Given the description of an element on the screen output the (x, y) to click on. 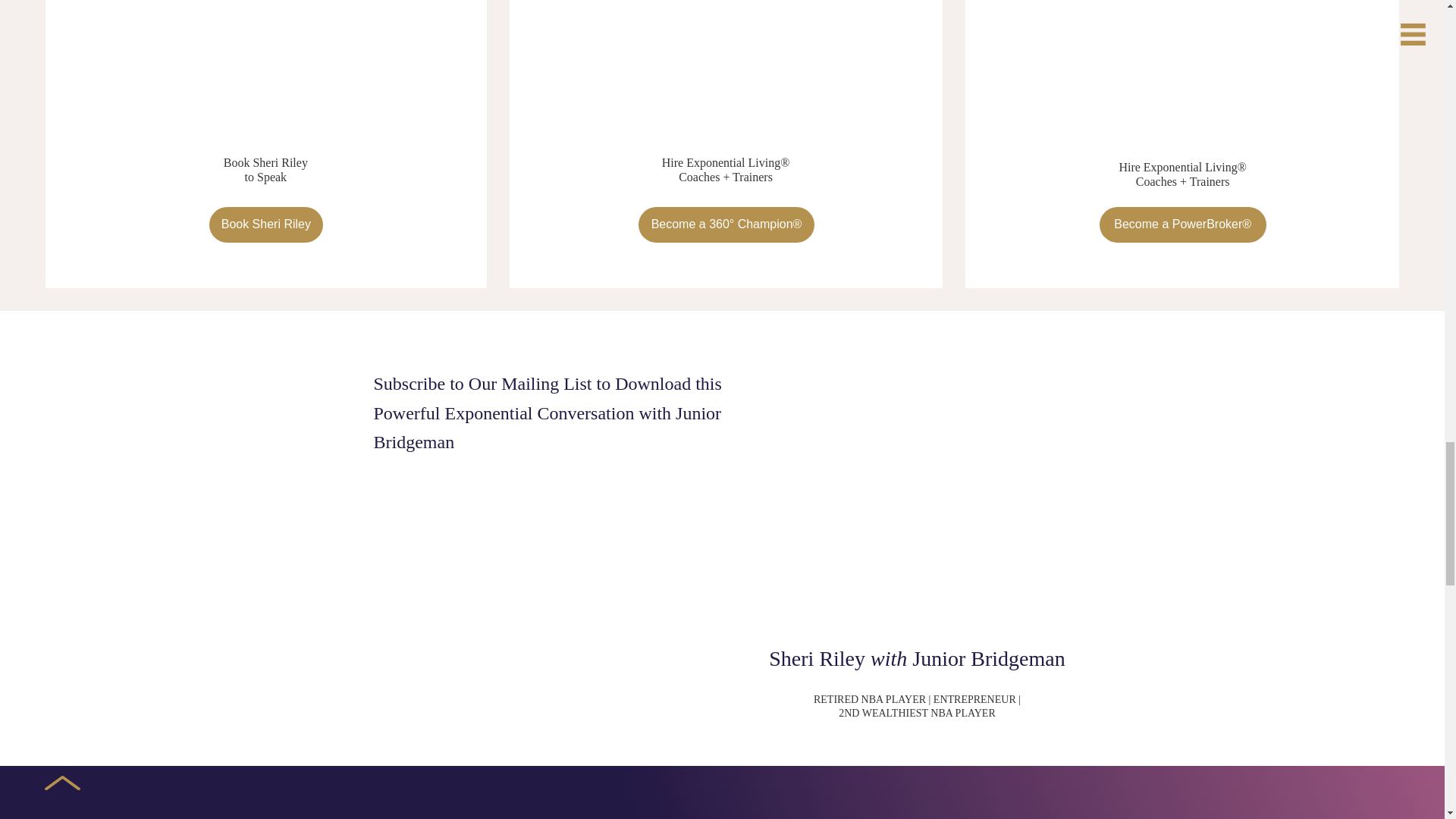
Book Sheri Riley (266, 224)
